Given the description of an element on the screen output the (x, y) to click on. 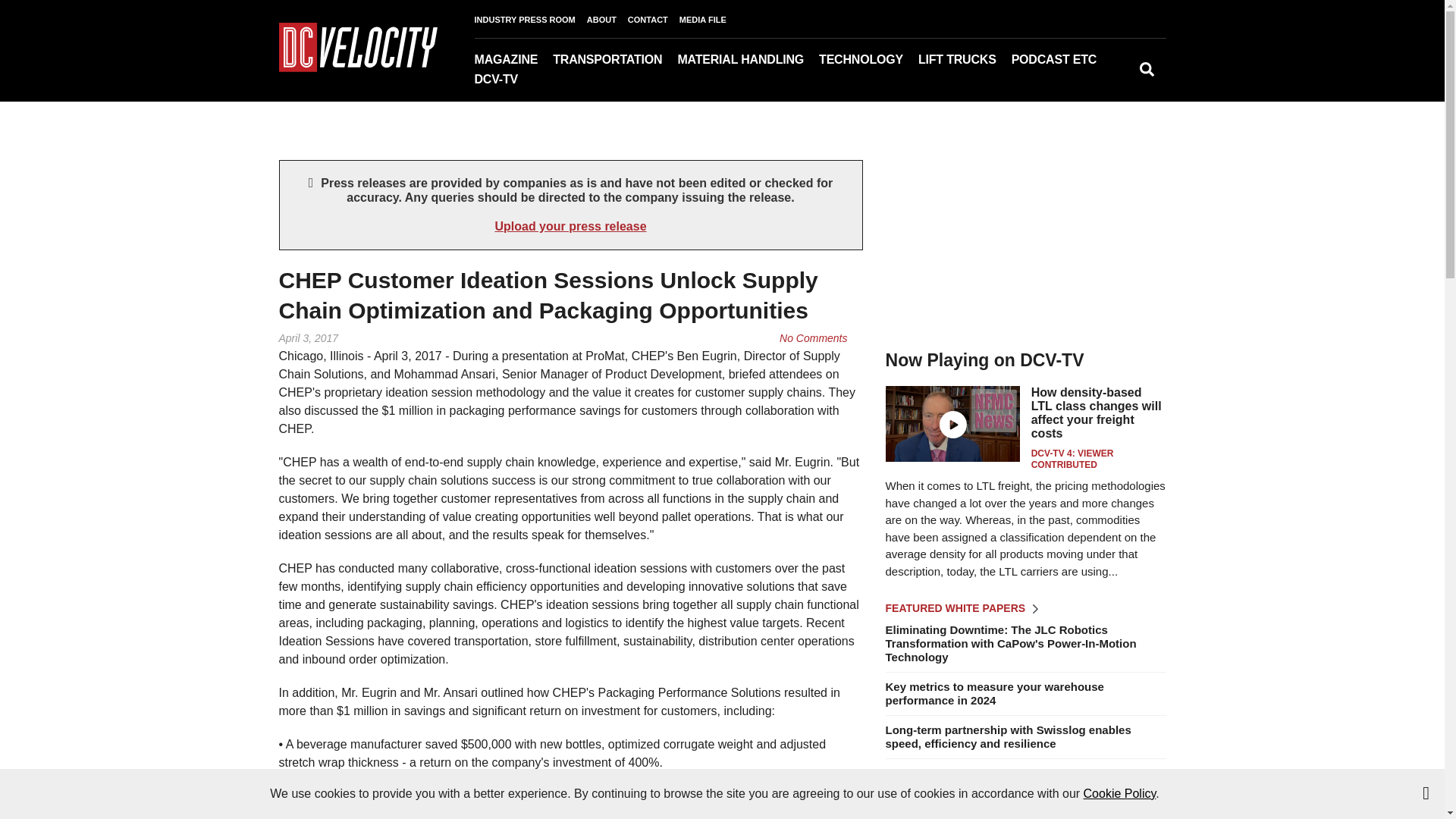
TECHNOLOGY (868, 59)
CONTACT (653, 19)
ABOUT (606, 19)
Industry Press Room (1112, 81)
Newsletters (571, 81)
MEDIA FILE (708, 19)
Podcast (1087, 81)
Blogs (1098, 81)
INDUSTRY PRESS ROOM (530, 19)
Cookie Policy (1119, 793)
Current Issue (550, 81)
Digital Edition (562, 81)
Mobile Apps (574, 81)
Events (1103, 81)
